Given the description of an element on the screen output the (x, y) to click on. 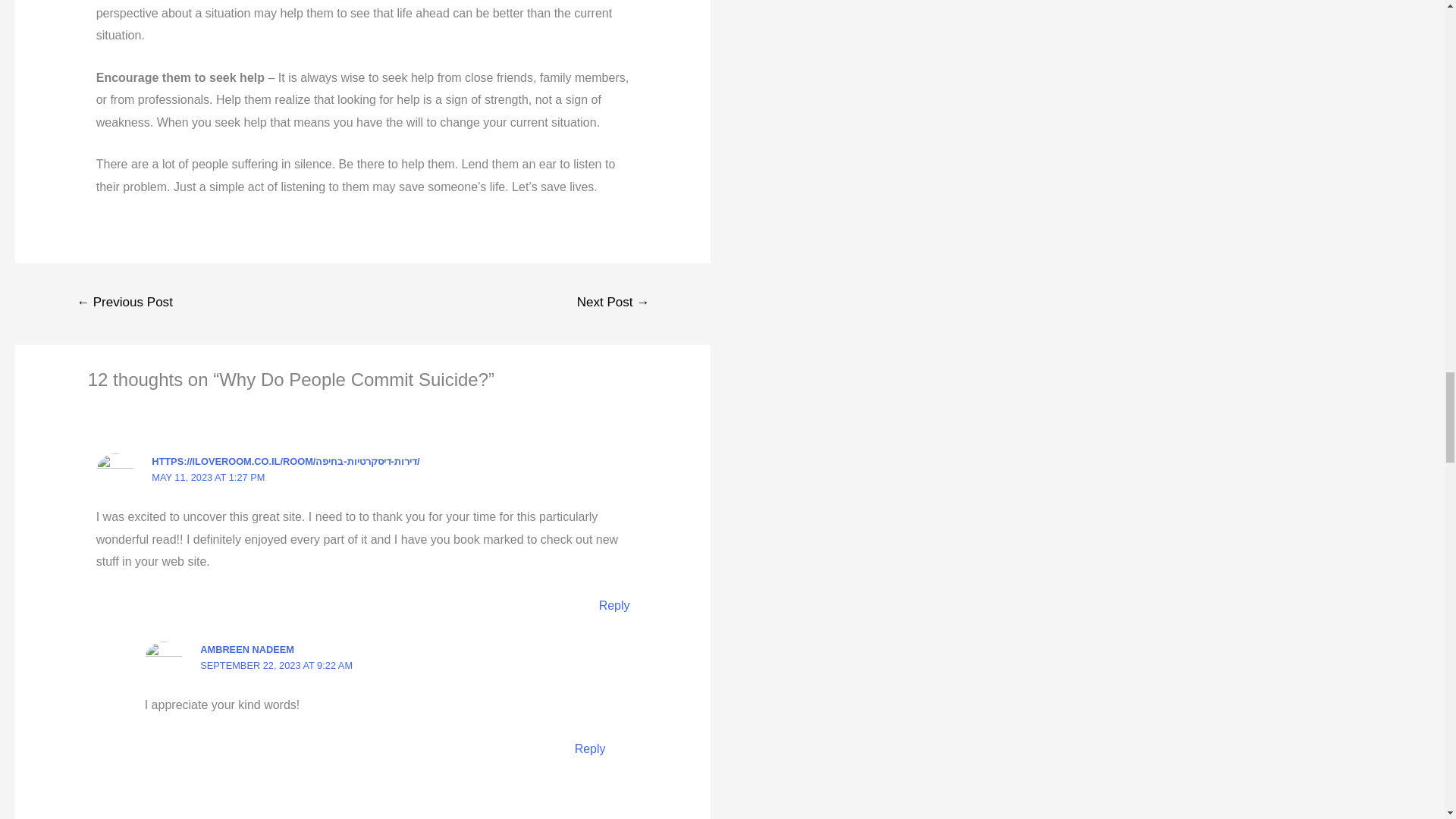
Reply (614, 604)
Reply (590, 748)
MAY 11, 2023 AT 1:27 PM (207, 477)
SEPTEMBER 22, 2023 AT 9:22 AM (276, 665)
AMBREEN NADEEM (247, 649)
